Given the description of an element on the screen output the (x, y) to click on. 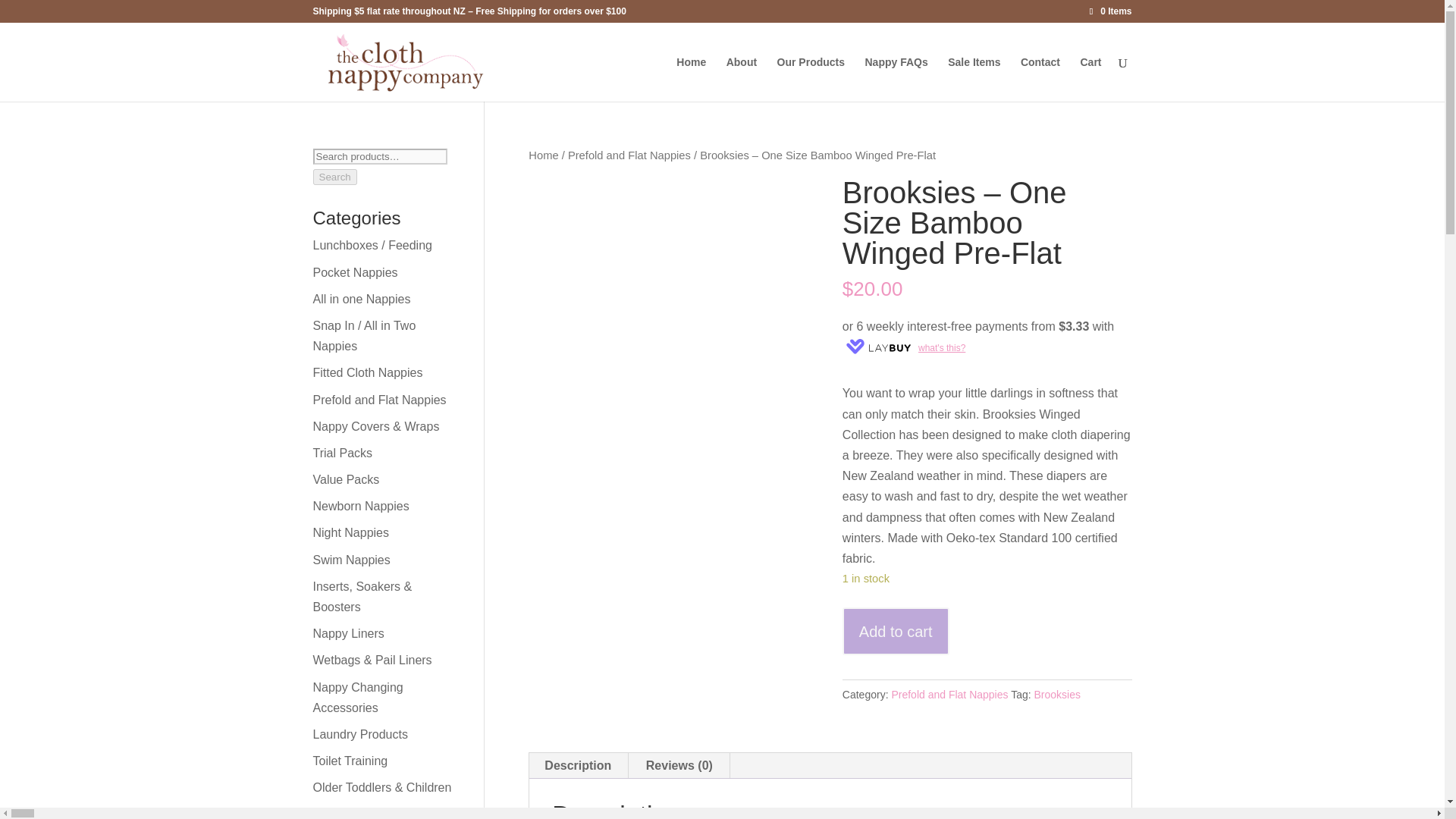
Search (334, 176)
Prefold and Flat Nappies (628, 155)
Our Products (810, 78)
0 Items (1110, 10)
Sale Items (973, 78)
Nappy FAQs (895, 78)
Prefold and Flat Nappies (949, 694)
Description (577, 765)
what's this? (904, 346)
Pocket Nappies (355, 272)
Add to cart (896, 631)
Opens a widget where you can chat to one of our agents (1386, 781)
Home (542, 155)
Brooksies (1056, 694)
